Given the description of an element on the screen output the (x, y) to click on. 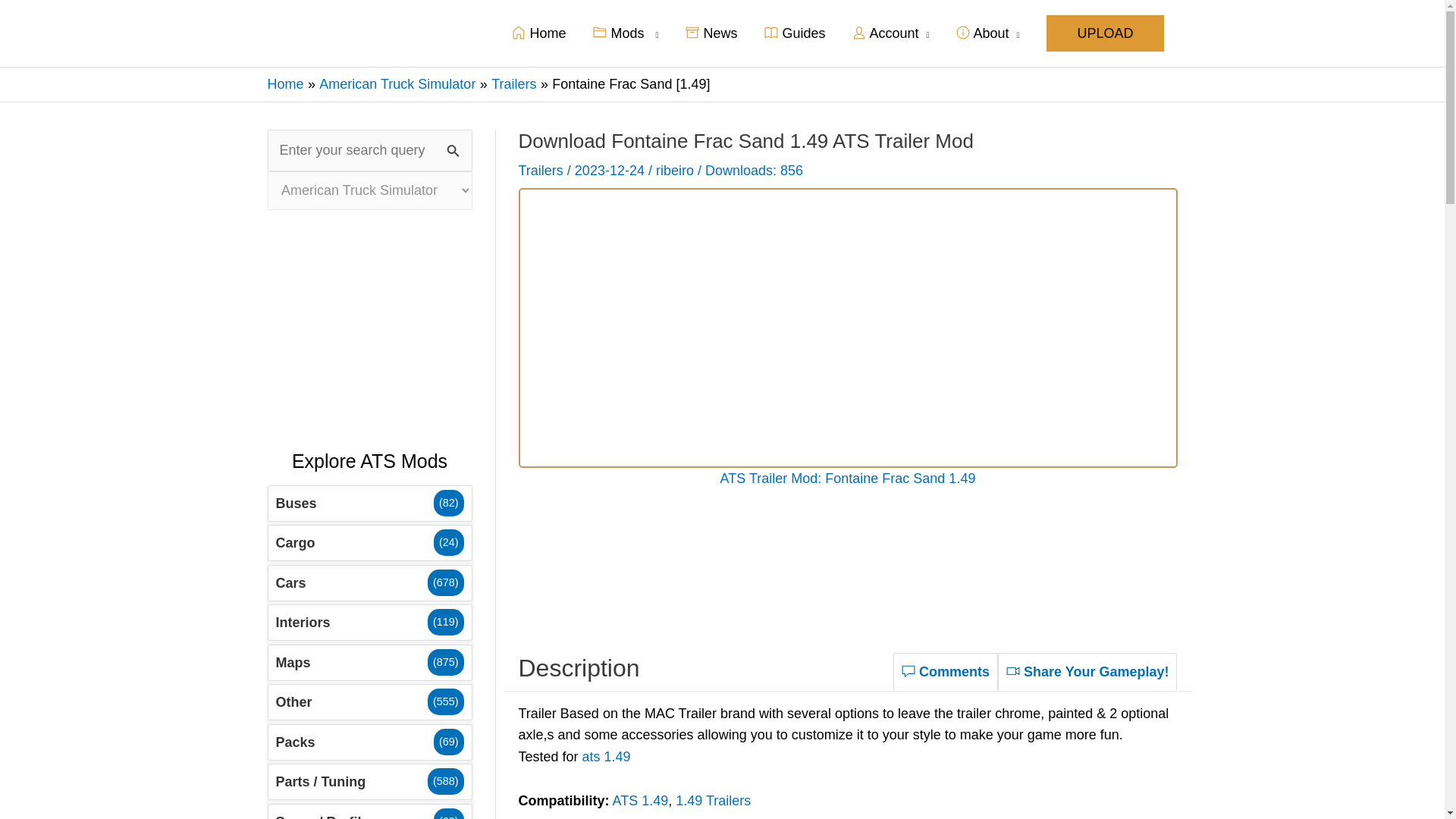
Mods (625, 32)
Browse cargo mods for American Truck Simulator (368, 542)
Browse buses mods for American Truck Simulator (368, 503)
About (987, 32)
Home (284, 83)
Browse cars mods for American Truck Simulator (368, 583)
Home (538, 32)
Guides (794, 32)
News (711, 32)
Trailers (513, 83)
